Given the description of an element on the screen output the (x, y) to click on. 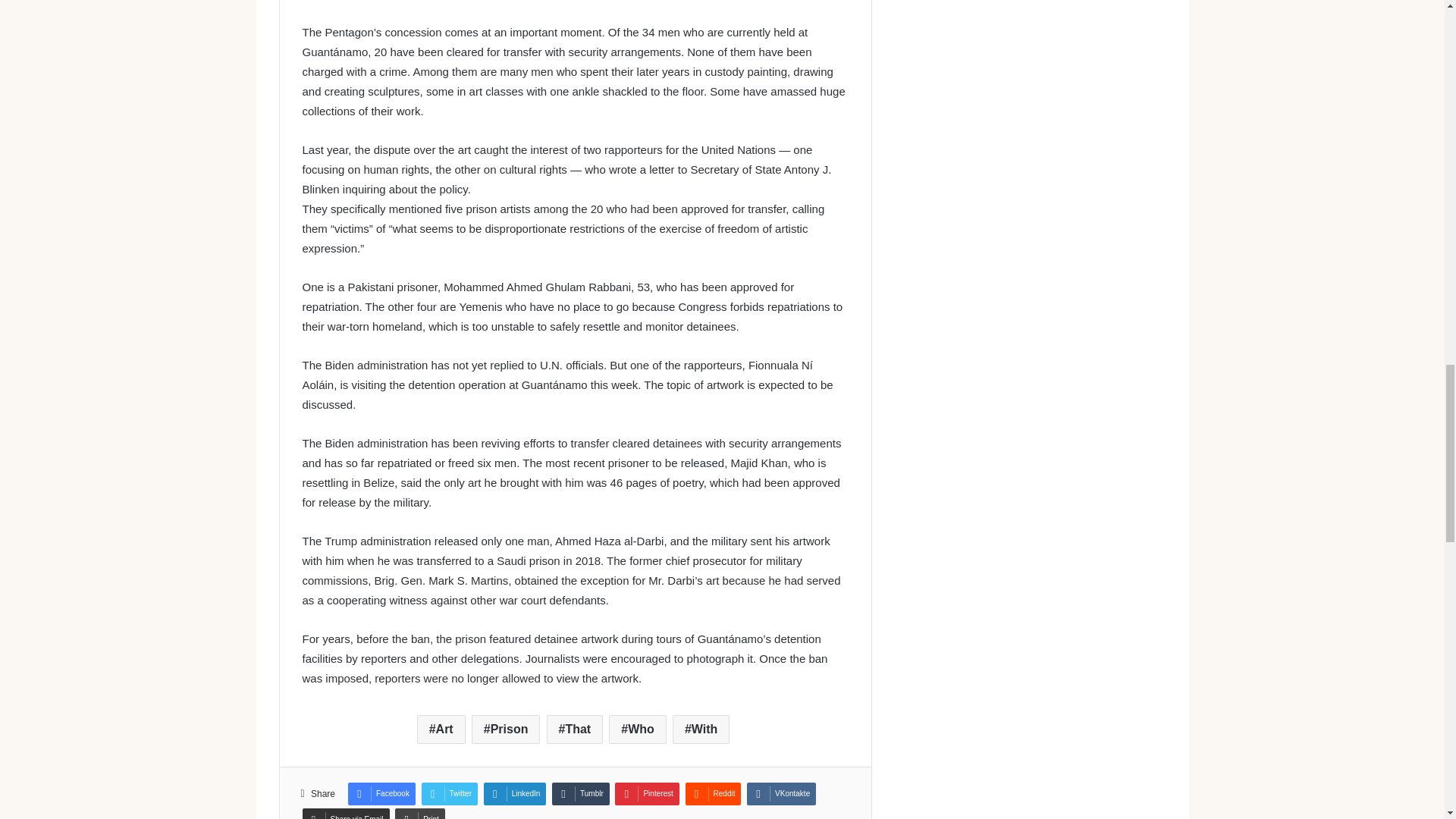
Prison (505, 728)
That (575, 728)
Who (637, 728)
Art (440, 728)
LinkedIn (515, 793)
Print (419, 813)
Facebook (380, 793)
Facebook (380, 793)
VKontakte (780, 793)
Pinterest (646, 793)
LinkedIn (515, 793)
Tumblr (580, 793)
Twitter (449, 793)
Share via Email (344, 813)
With (700, 728)
